Given the description of an element on the screen output the (x, y) to click on. 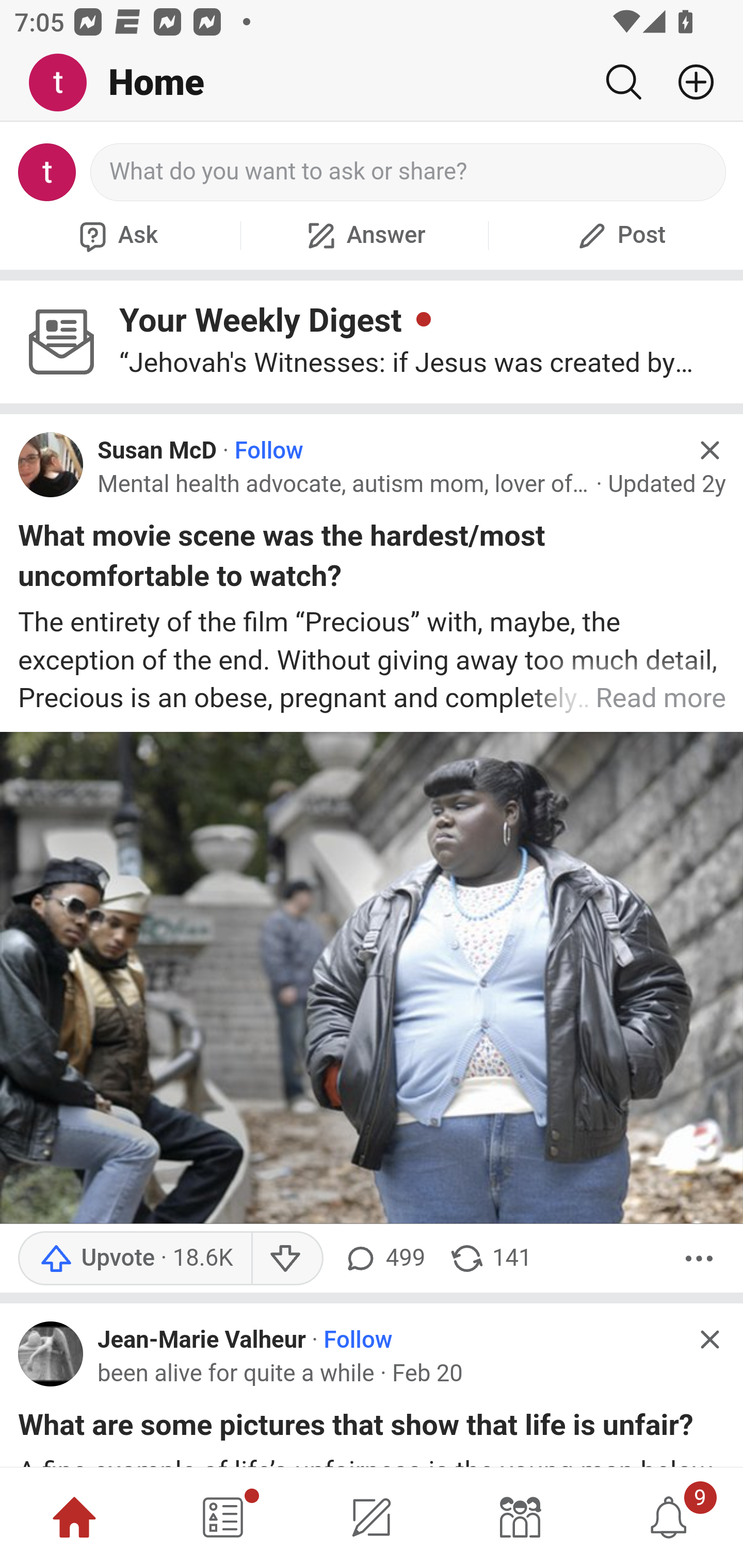
Me Home Search Add (371, 82)
Me (64, 83)
Search (623, 82)
Add (688, 82)
9 (668, 1517)
